Given the description of an element on the screen output the (x, y) to click on. 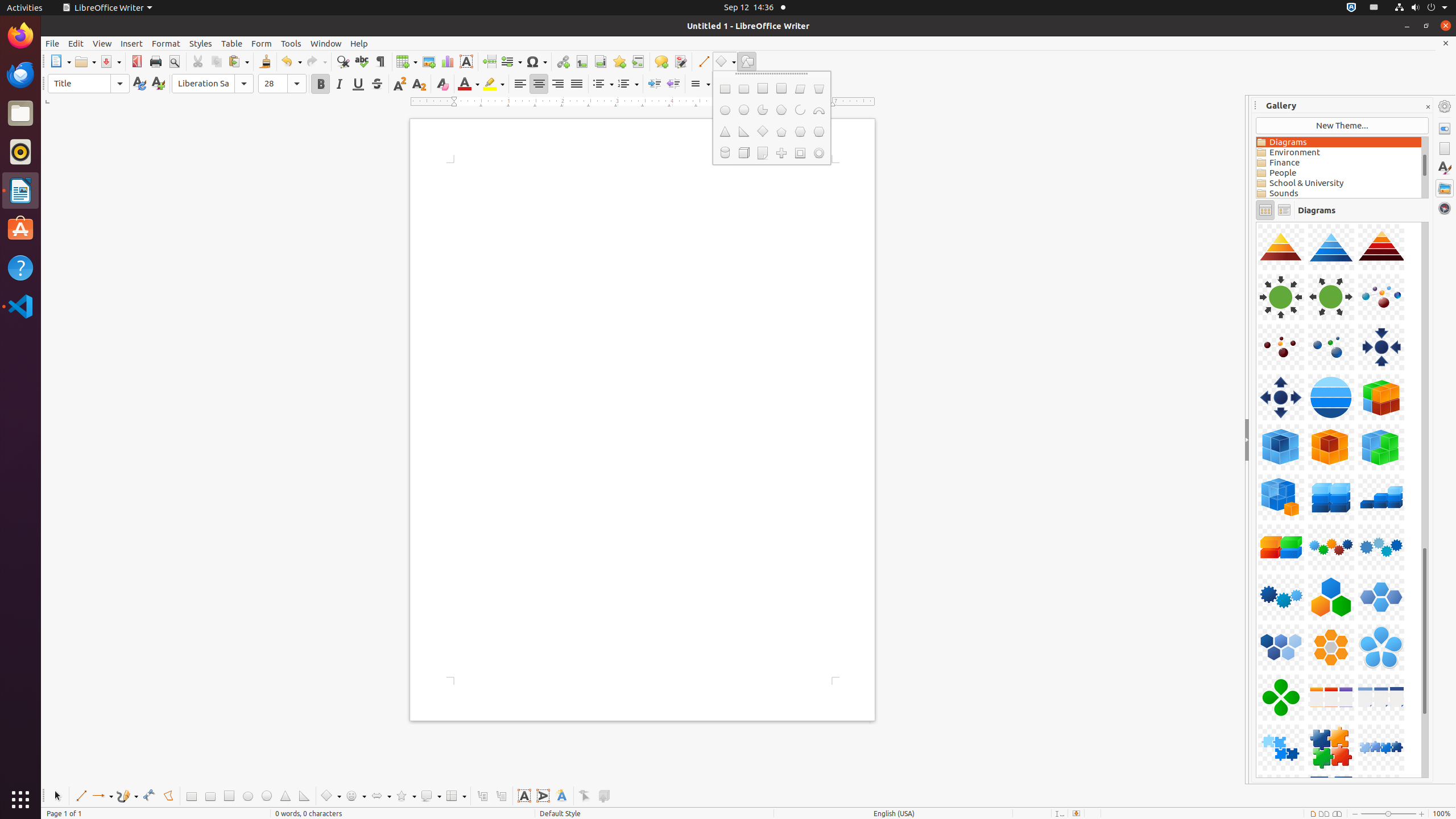
Symbol Element type: push-button (535, 61)
Formatting Marks Element type: toggle-button (379, 61)
Table Element type: menu (231, 43)
Visual Studio Code Element type: push-button (20, 306)
Undo Element type: push-button (290, 61)
